Given the description of an element on the screen output the (x, y) to click on. 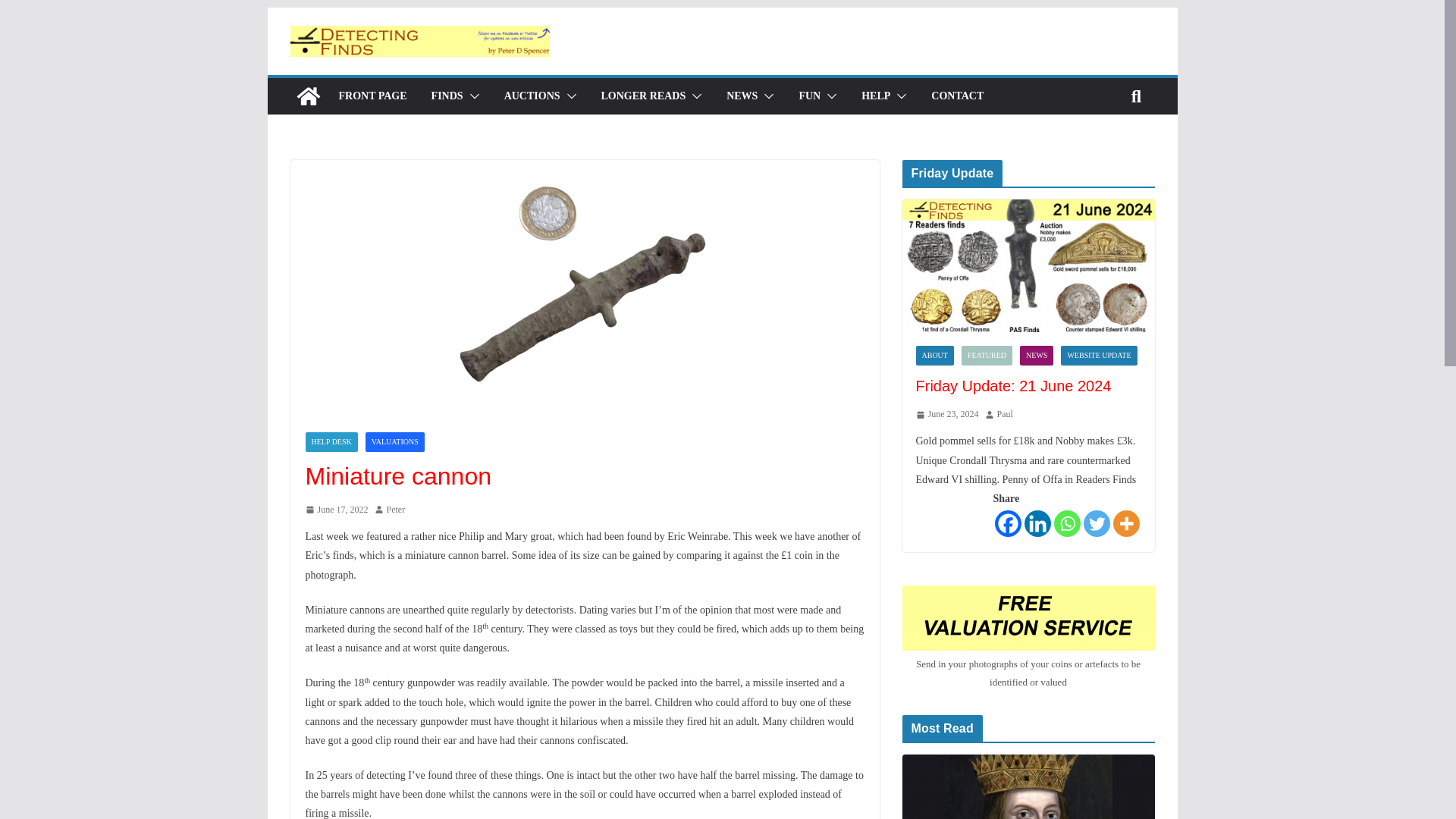
LONGER READS (643, 96)
HELP DESK (330, 442)
Detecting Finds (307, 95)
FUN (809, 96)
AUCTIONS (531, 96)
HELP (875, 96)
Peter (396, 510)
NEWS (741, 96)
2:38 pm (336, 510)
CONTACT (957, 96)
FRONT PAGE (371, 96)
June 17, 2022 (336, 510)
FINDS (446, 96)
VALUATIONS (395, 442)
Peter (396, 510)
